Given the description of an element on the screen output the (x, y) to click on. 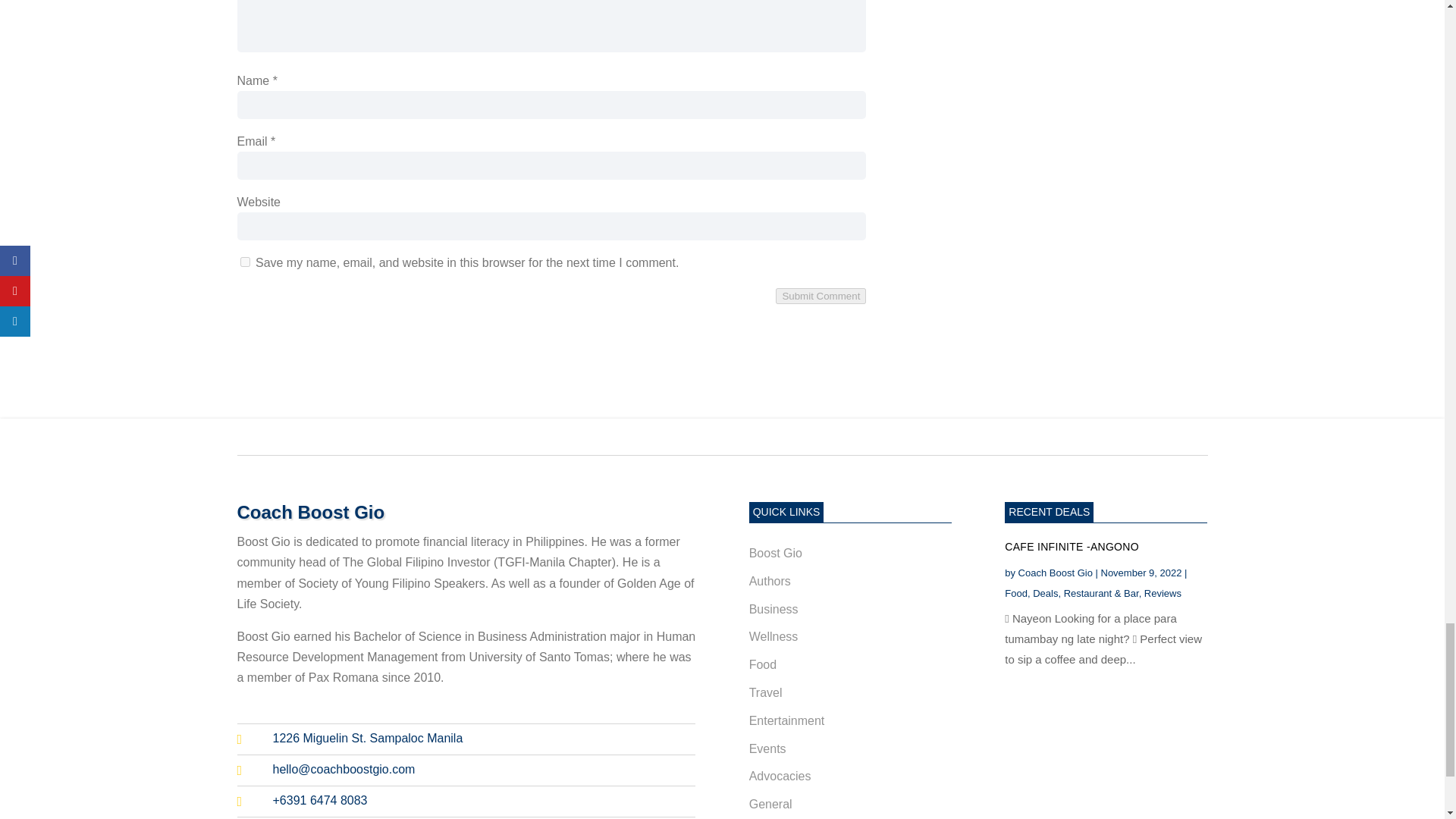
yes (244, 261)
